Given the description of an element on the screen output the (x, y) to click on. 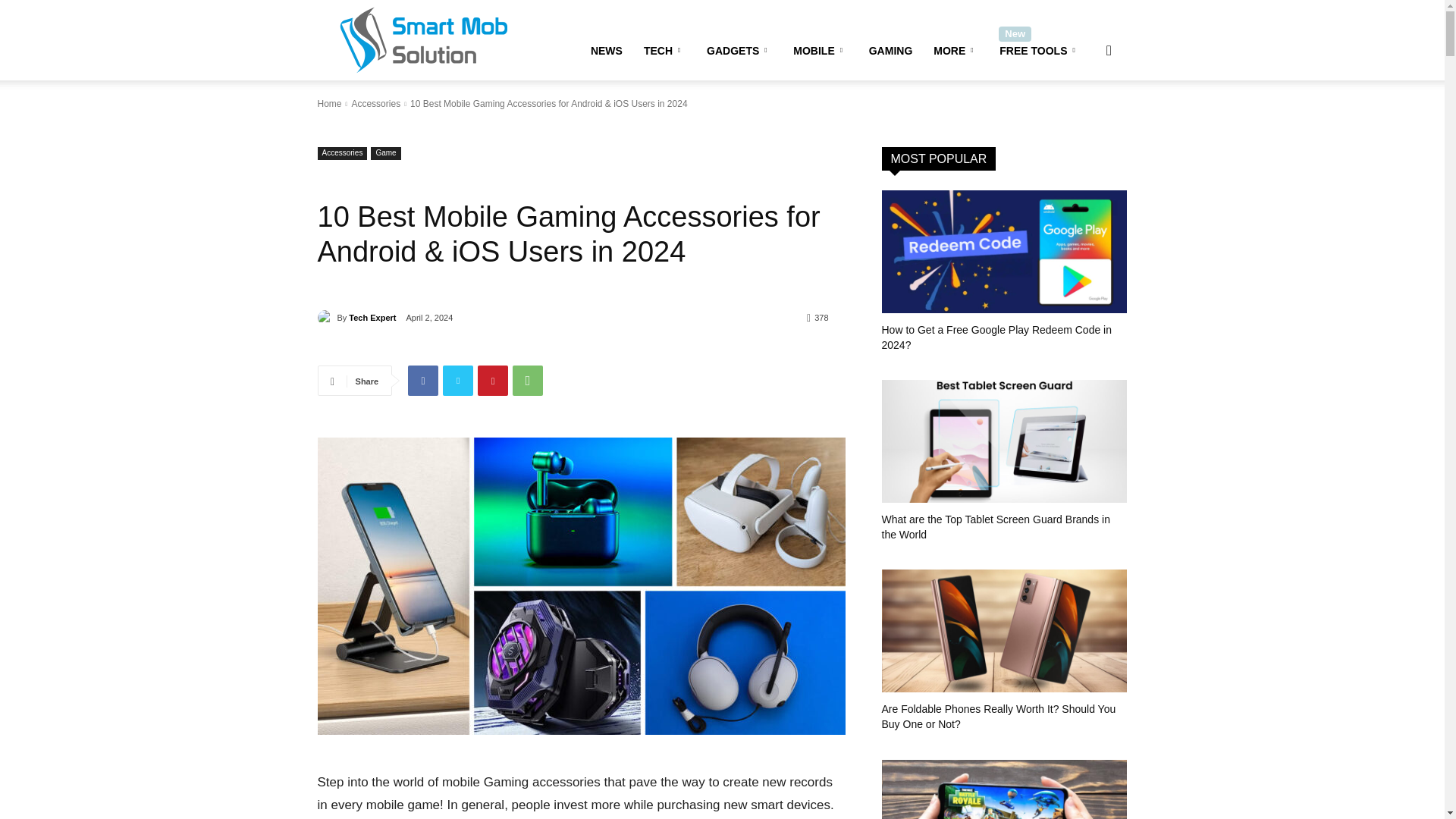
Facebook (422, 380)
WhatsApp (527, 380)
Pinterest (492, 380)
Smart Mob Solution logo (419, 39)
Tech Expert (326, 317)
Twitter (457, 380)
View all posts in Accessories (375, 103)
